Given the description of an element on the screen output the (x, y) to click on. 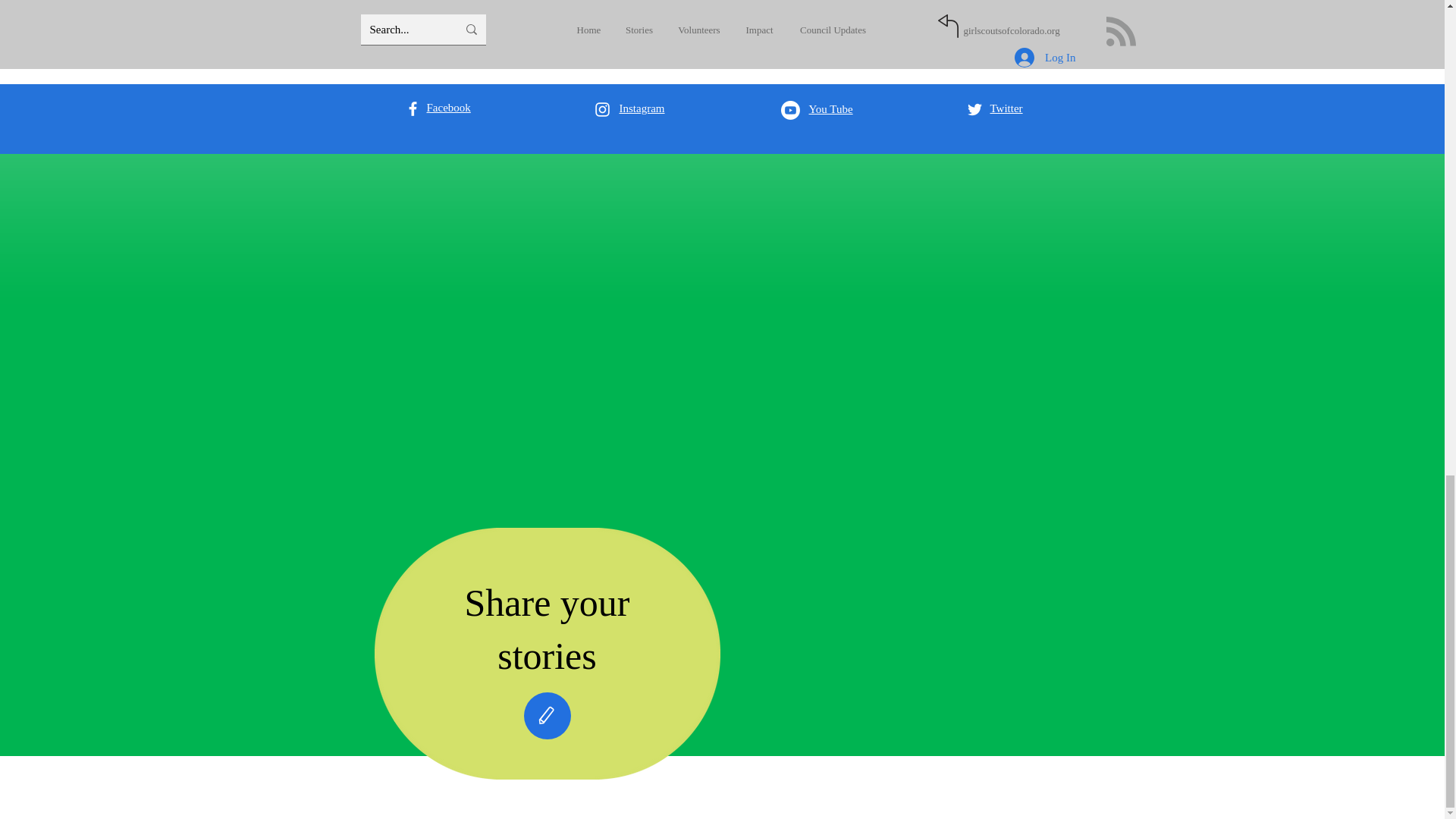
Facebook (448, 107)
Instagram (640, 108)
Post not marked as liked (995, 14)
